Given the description of an element on the screen output the (x, y) to click on. 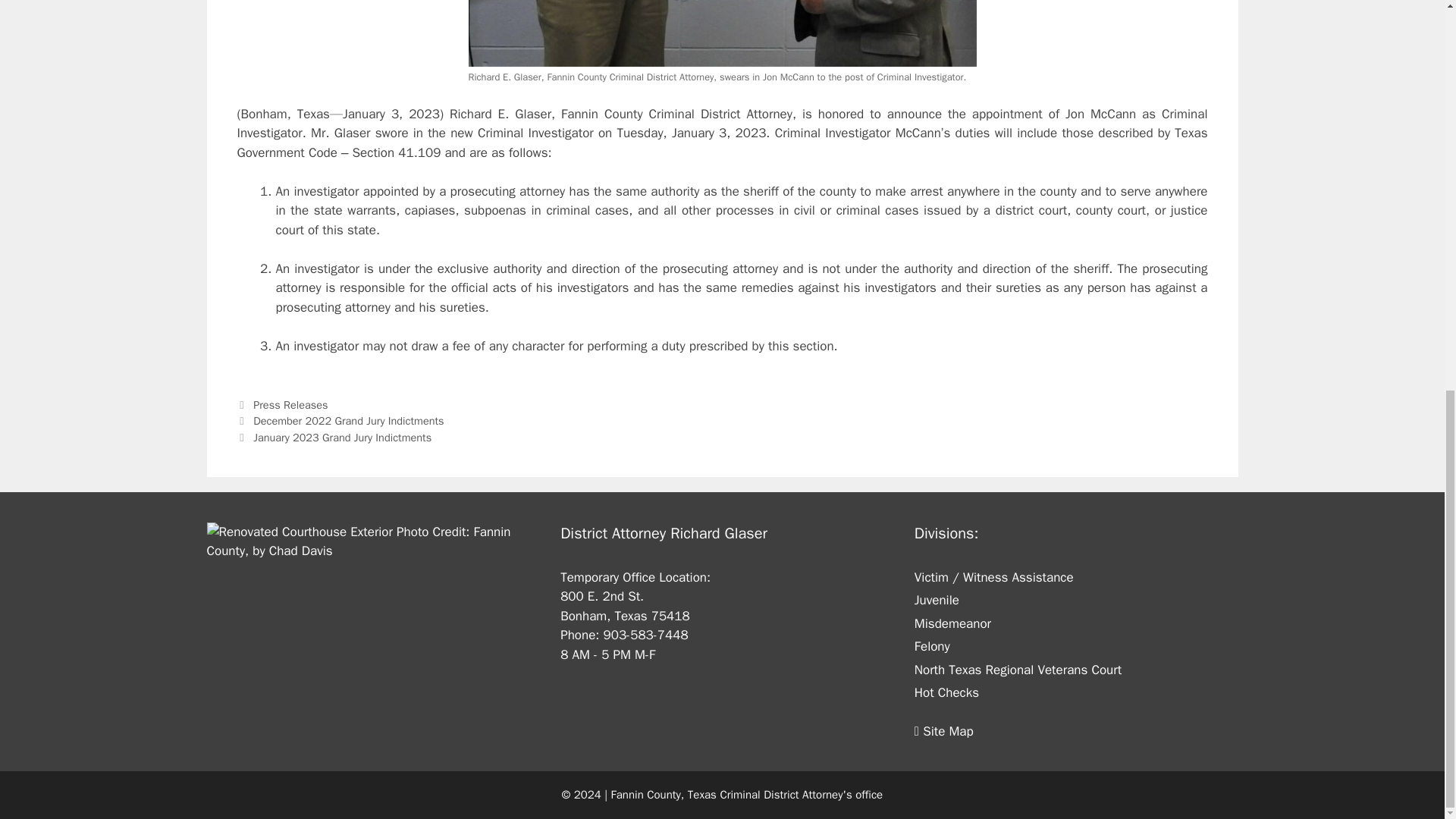
Scroll back to top (1406, 795)
